Given the description of an element on the screen output the (x, y) to click on. 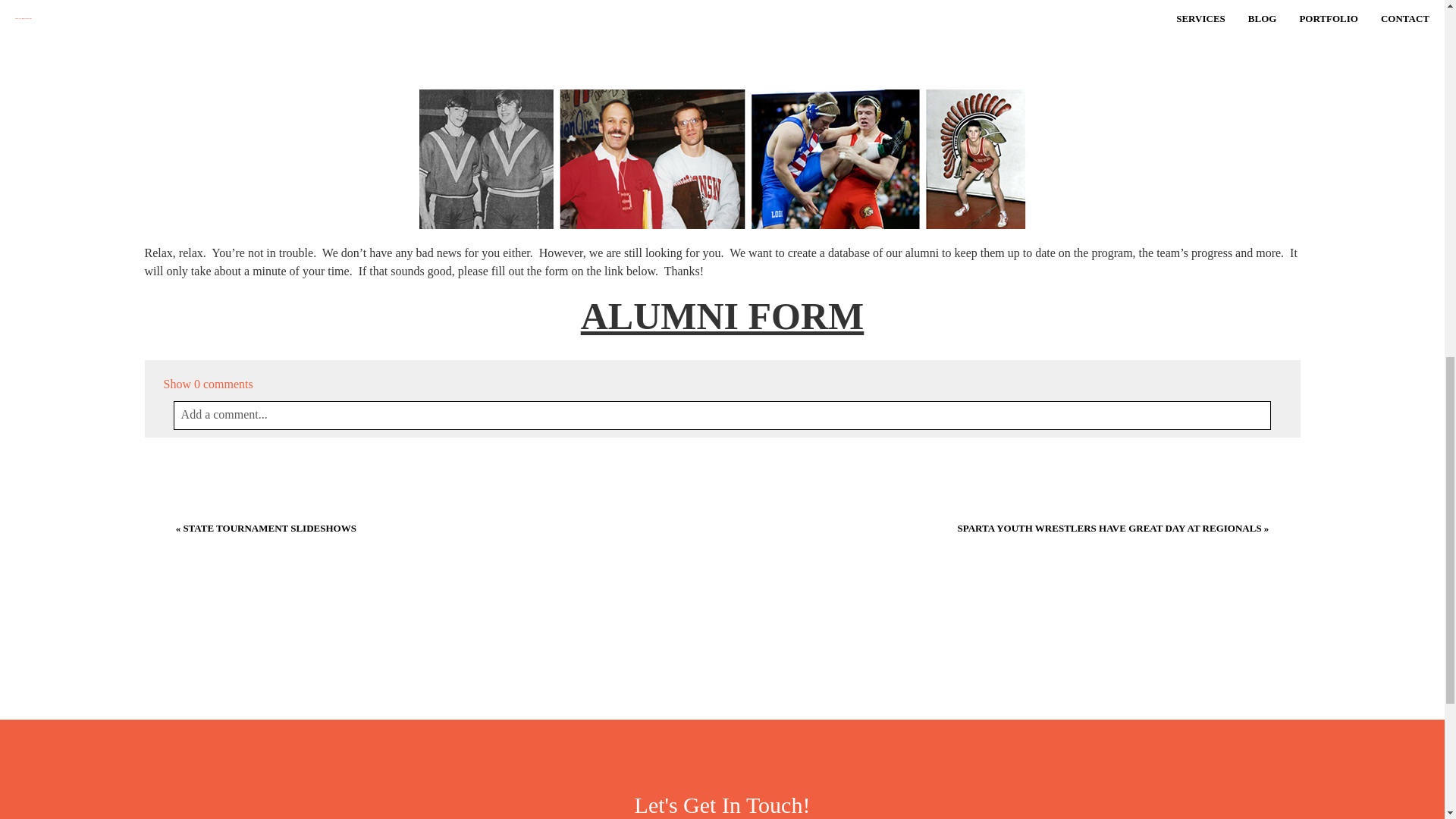
ALUMNI FORM (722, 315)
SPARTA YOUTH WRESTLERS HAVE GREAT DAY AT REGIONALS (1110, 527)
Show 0 comments (208, 383)
STATE TOURNAMENT SLIDESHOWS (269, 527)
